Given the description of an element on the screen output the (x, y) to click on. 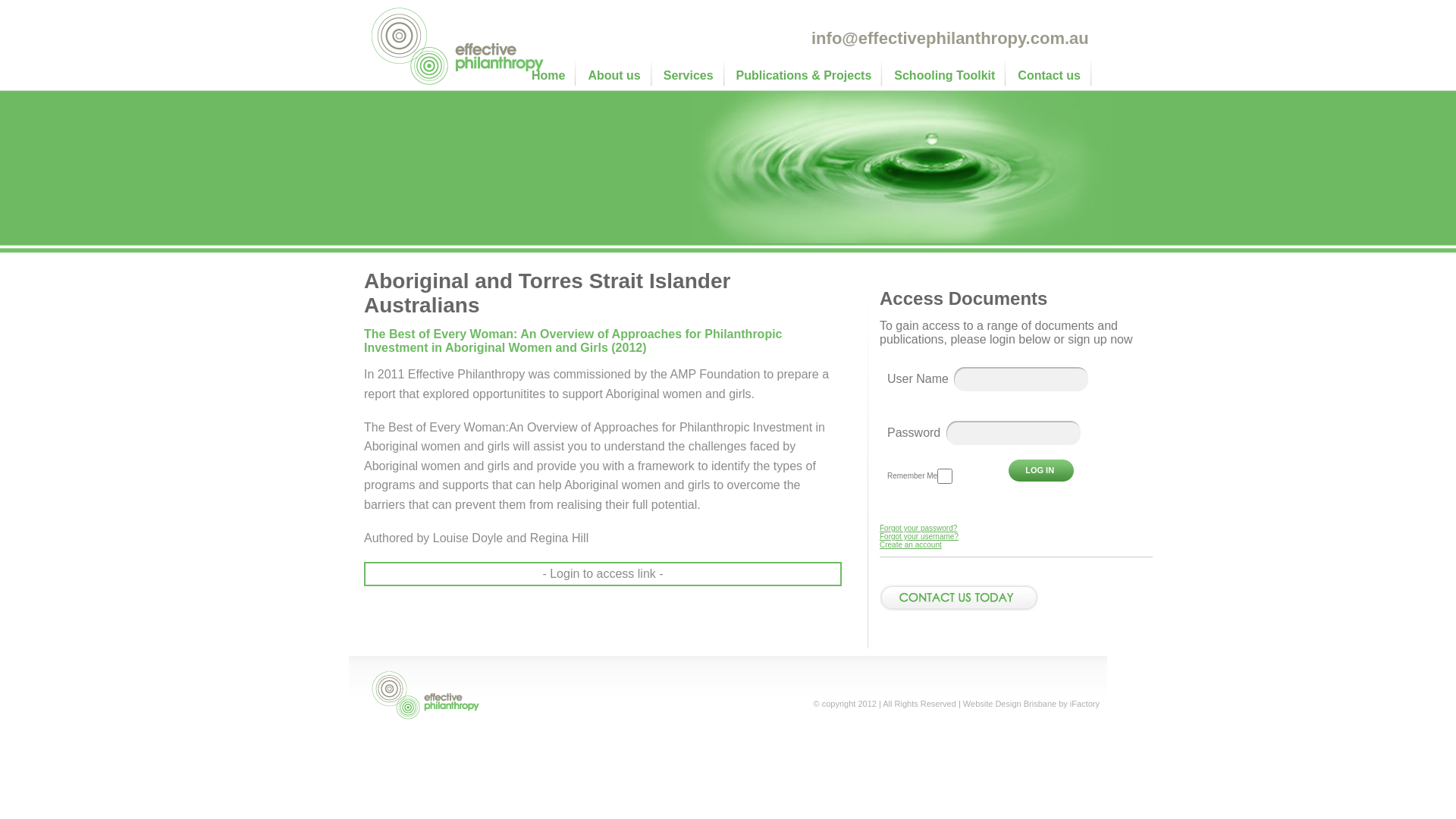
Website Design Brisbane Element type: text (1009, 703)
Home Element type: text (548, 73)
Forgot your password? Element type: text (918, 528)
Services Element type: text (688, 73)
Forgot your username? Element type: text (918, 536)
Schooling Toolkit Element type: text (944, 73)
Create an account Element type: text (910, 544)
Publications & Projects Element type: text (803, 73)
Log in Element type: text (1039, 470)
Contact us Element type: text (1049, 73)
info@effectivephilanthropy.com.au Element type: text (949, 37)
About us Element type: text (613, 73)
